Given the description of an element on the screen output the (x, y) to click on. 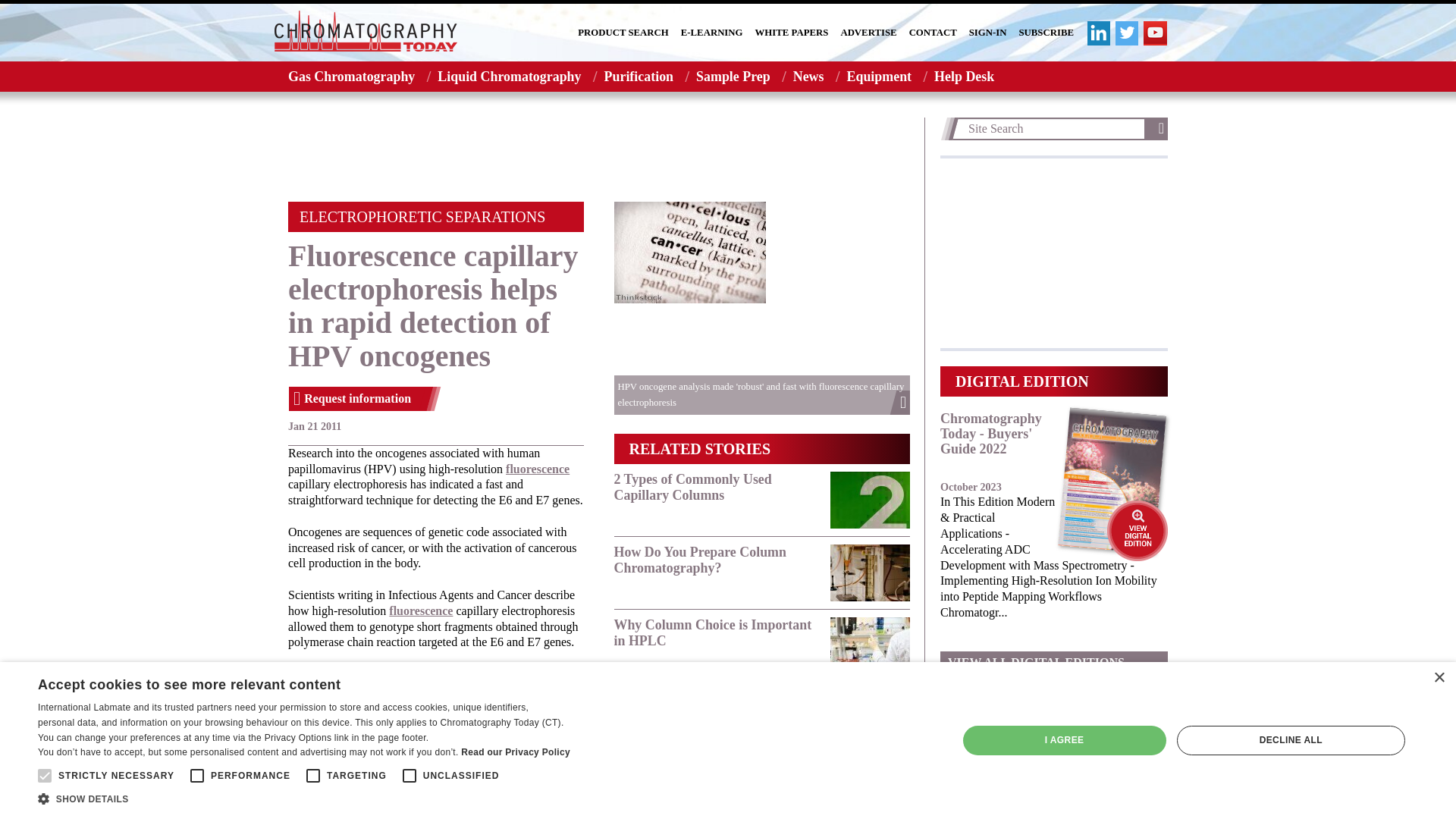
ADVERTISE (868, 32)
3rd party ad content (1053, 253)
E-LEARNING (711, 32)
PRODUCT SEARCH (623, 32)
SUBSCRIBE (1045, 32)
SIGN-IN (988, 32)
WHITE PAPERS (791, 32)
3rd party ad content (599, 151)
Liquid Chromatography (508, 76)
CONTACT (932, 32)
Gas Chromatography (347, 76)
